Given the description of an element on the screen output the (x, y) to click on. 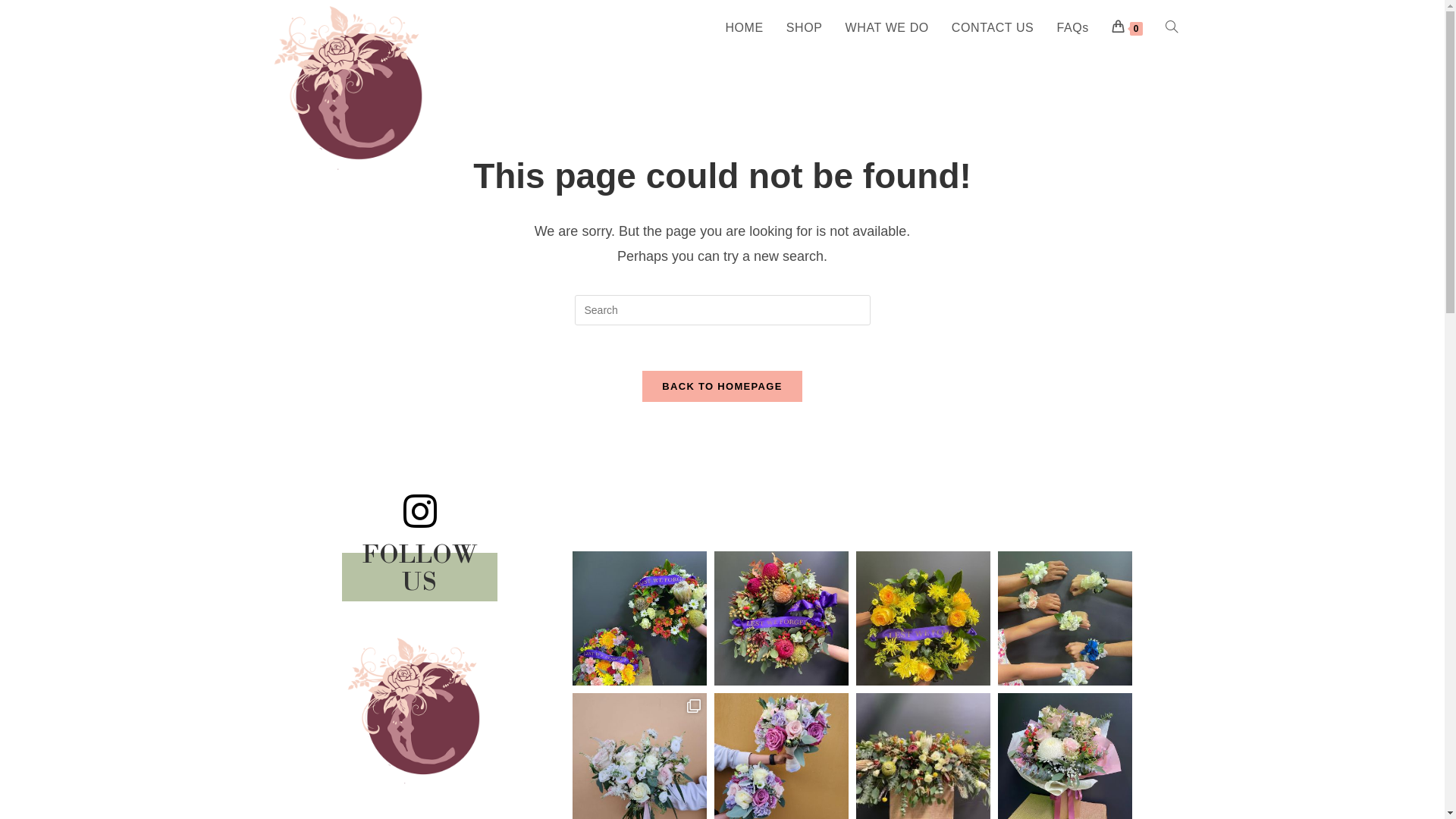
Floral Logo Element type: hover (419, 709)
CONTACT US Element type: text (992, 28)
0 Element type: text (1127, 28)
BACK TO HOMEPAGE Element type: text (721, 385)
SHOP Element type: text (804, 28)
HOME Element type: text (743, 28)
FAQs Element type: text (1071, 28)
WHAT WE DO Element type: text (887, 28)
